Given the description of an element on the screen output the (x, y) to click on. 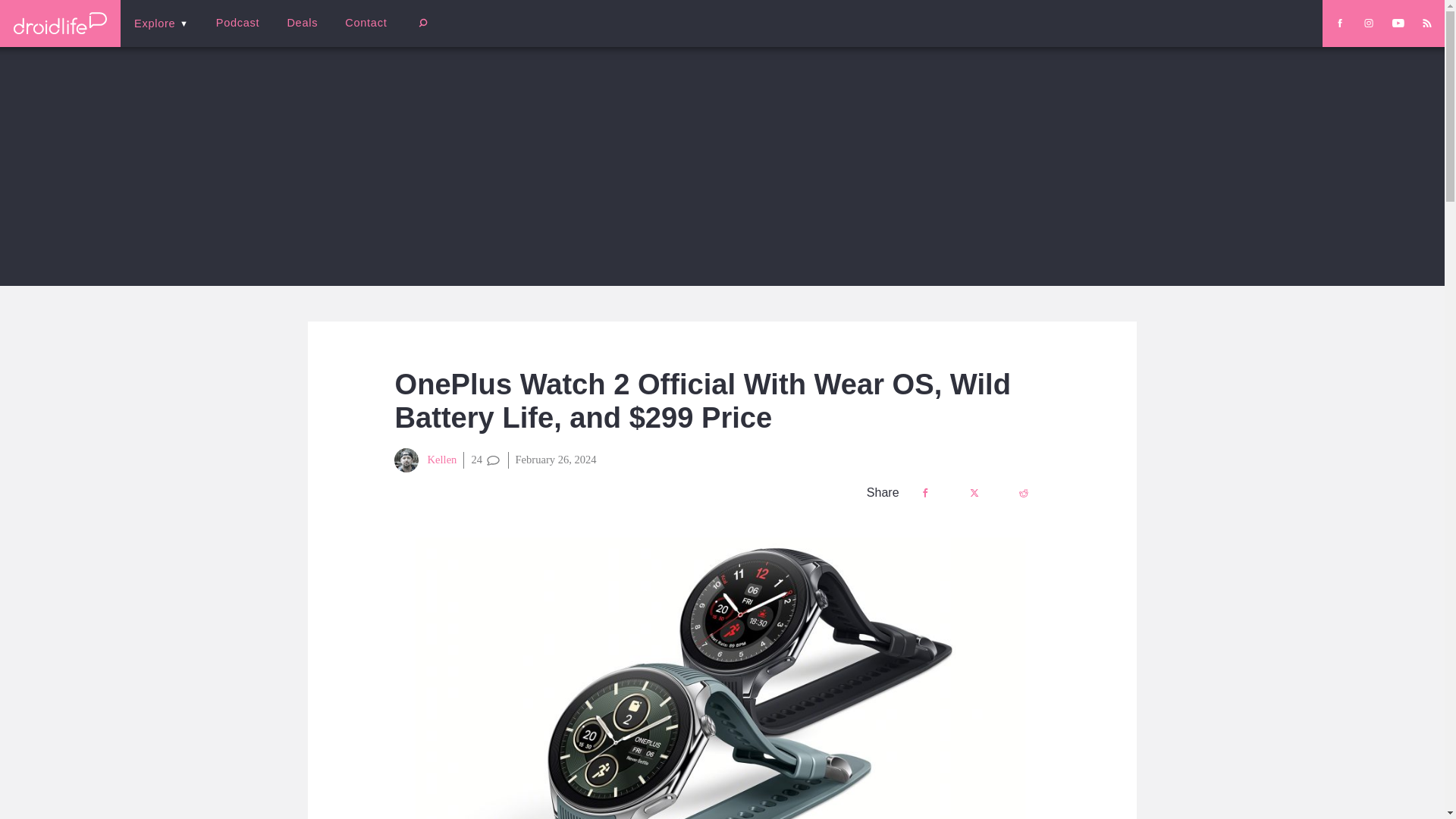
Droid Life RSS (1426, 23)
Beginners' Guide (360, 33)
Kellen (425, 459)
Droid Life on Instagram (1368, 23)
Explore (161, 23)
Deals (302, 23)
Contact (365, 23)
Podcast (237, 23)
Droid Life on YouTube (1398, 23)
Droid Life on Facebook (1339, 23)
